Given the description of an element on the screen output the (x, y) to click on. 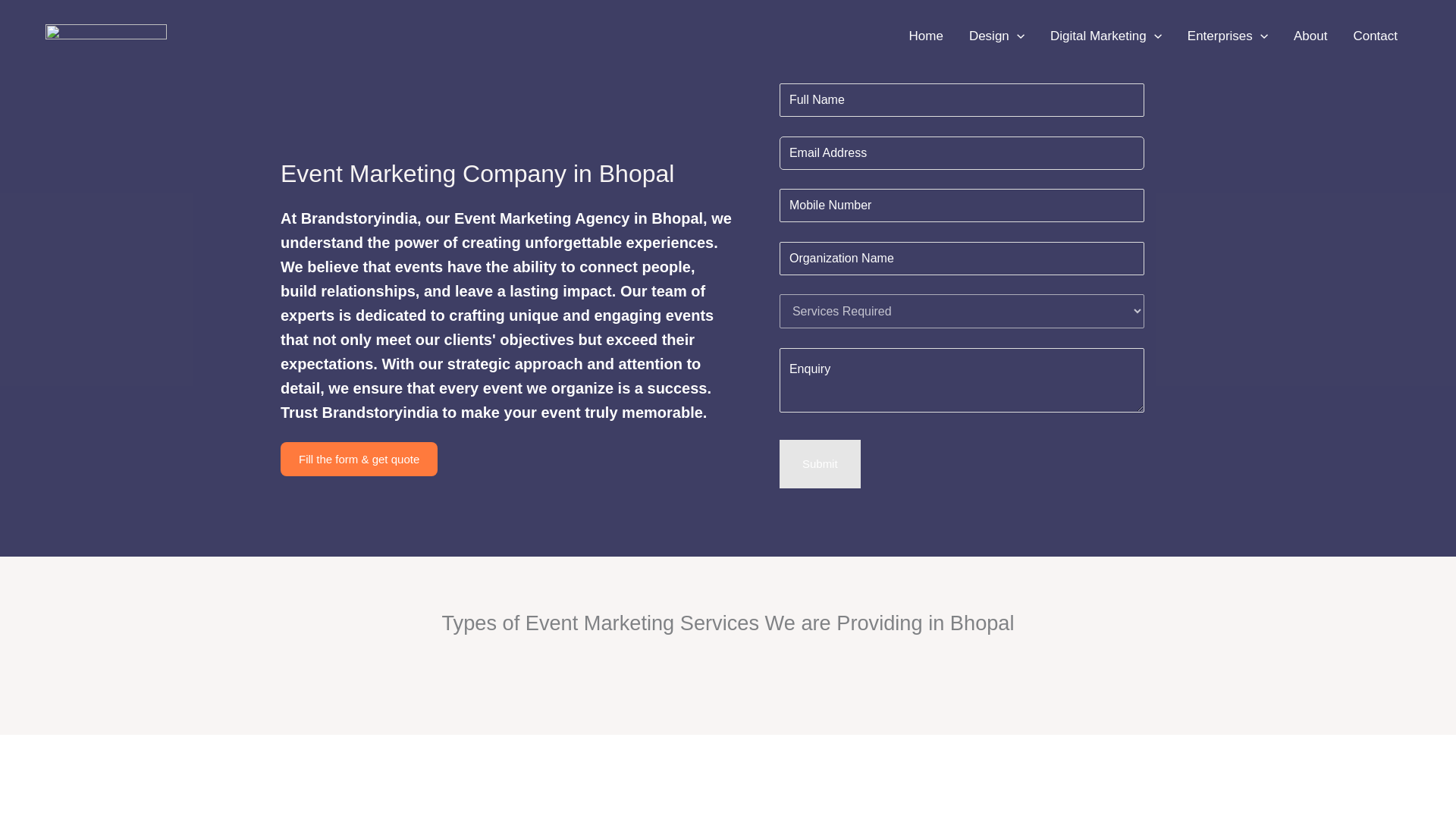
Digital Marketing (1105, 36)
Contact (1374, 36)
Enterprises (1227, 36)
Submit (819, 463)
Design (996, 36)
